Given the description of an element on the screen output the (x, y) to click on. 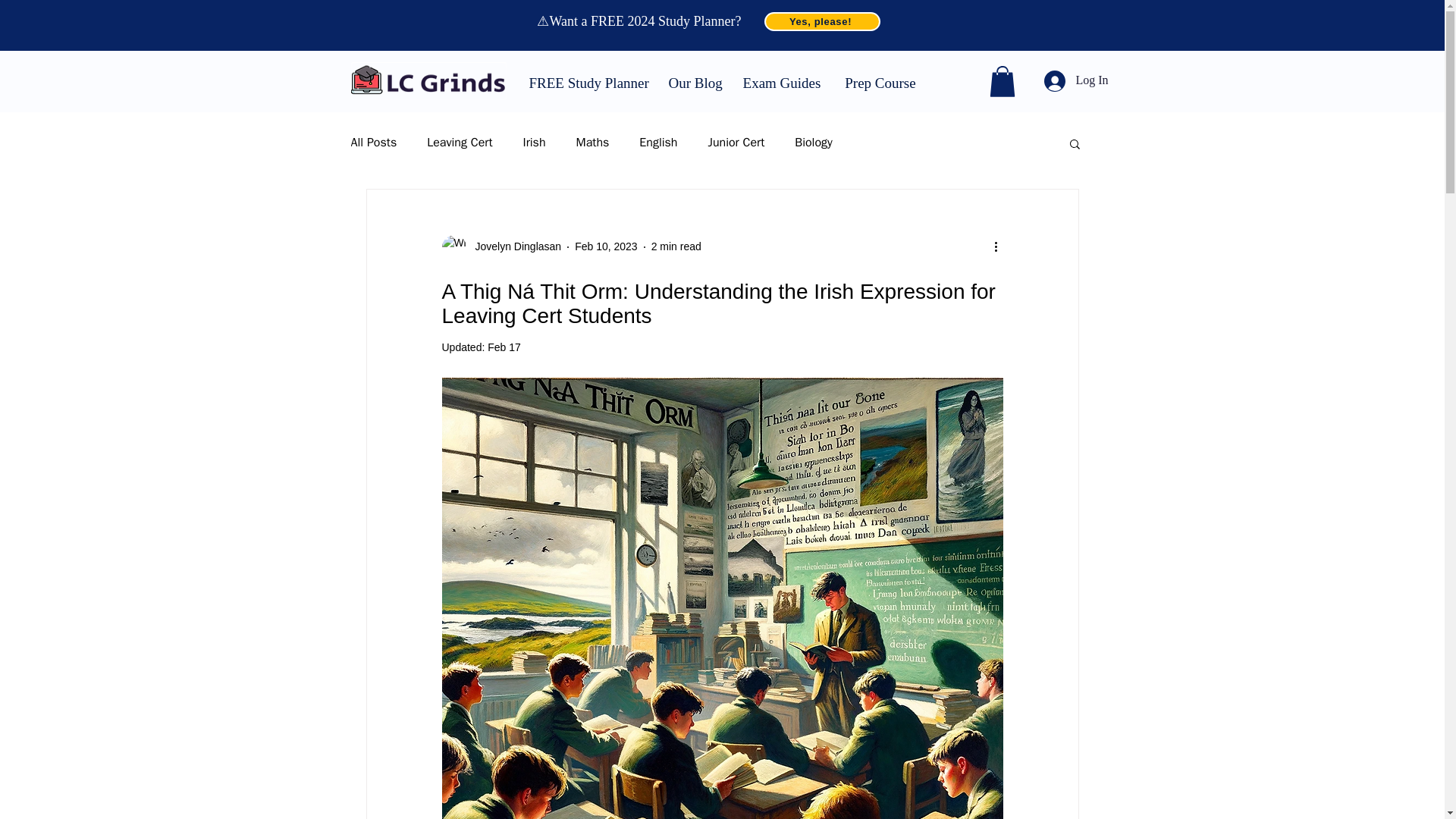
English (658, 142)
Jovelyn Dinglasan (500, 247)
Our Blog (693, 80)
Maths (593, 142)
Leaving Cert (459, 142)
Irish (534, 142)
Junior Cert (735, 142)
All Posts (373, 142)
Prep Course (880, 80)
2 min read (675, 246)
